Given the description of an element on the screen output the (x, y) to click on. 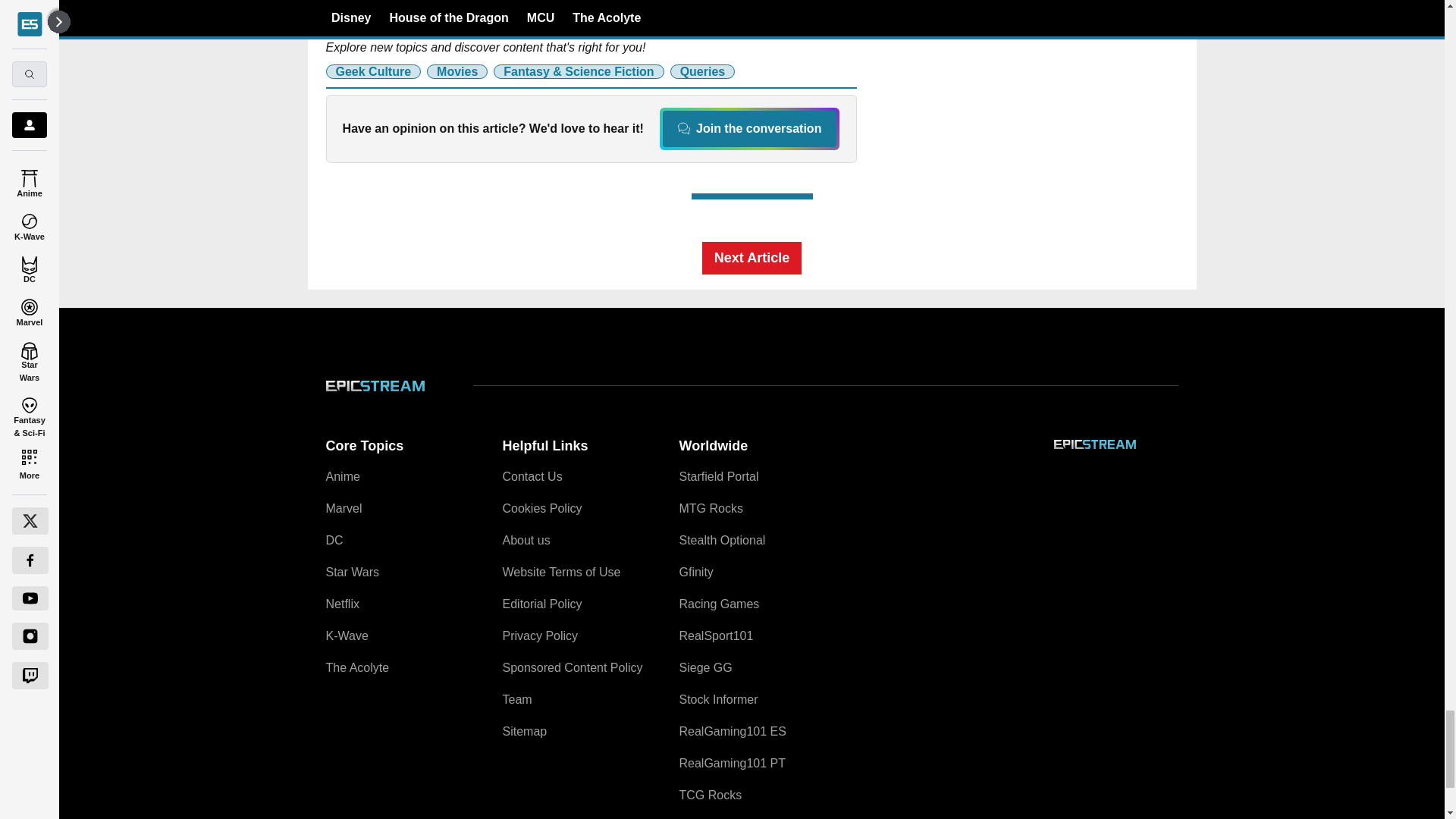
Latest News (1063, 84)
